Given the description of an element on the screen output the (x, y) to click on. 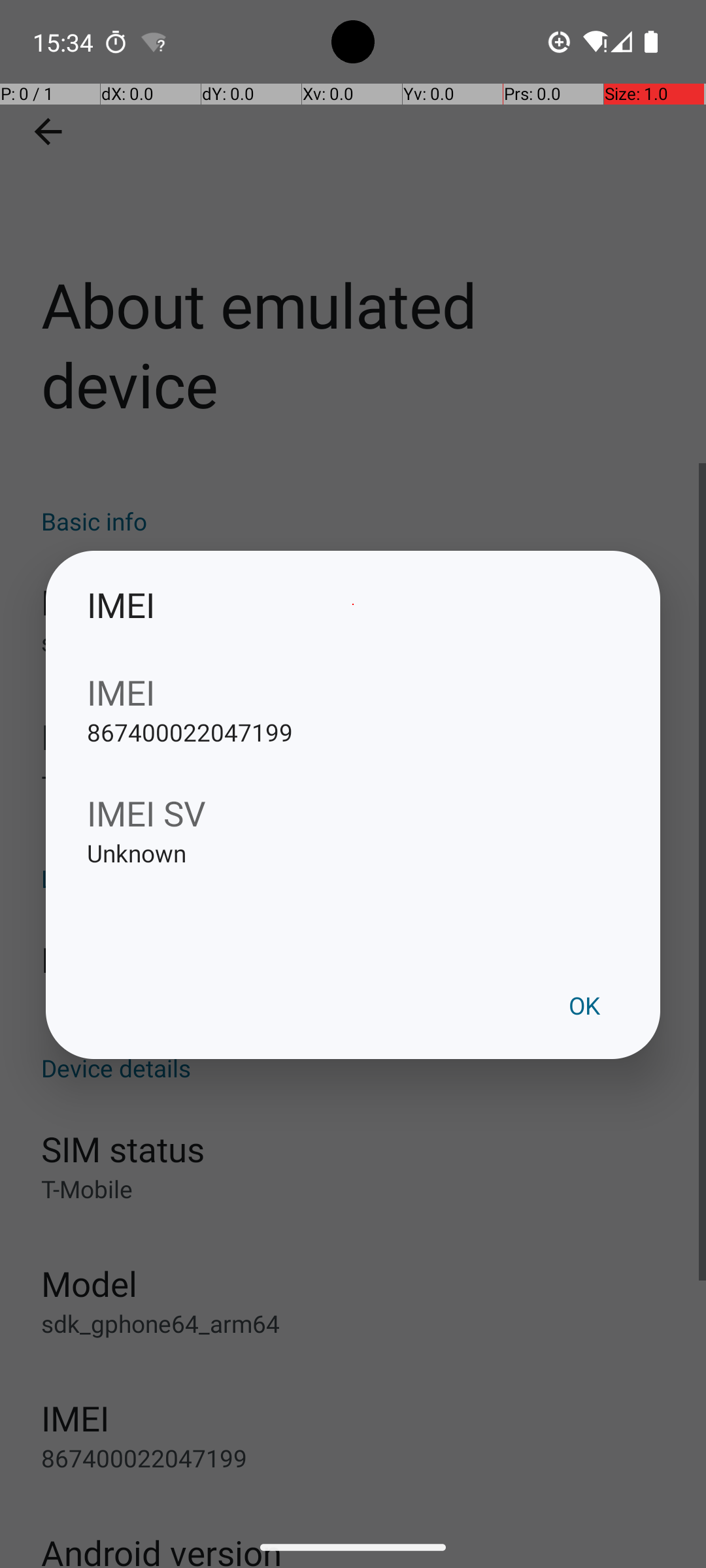
IMEI Element type: android.widget.TextView (352, 604)
867400022047199 Element type: android.widget.TextView (352, 752)
IMEI SV Element type: android.widget.TextView (352, 812)
Unknown Element type: android.widget.TextView (352, 873)
